Given the description of an element on the screen output the (x, y) to click on. 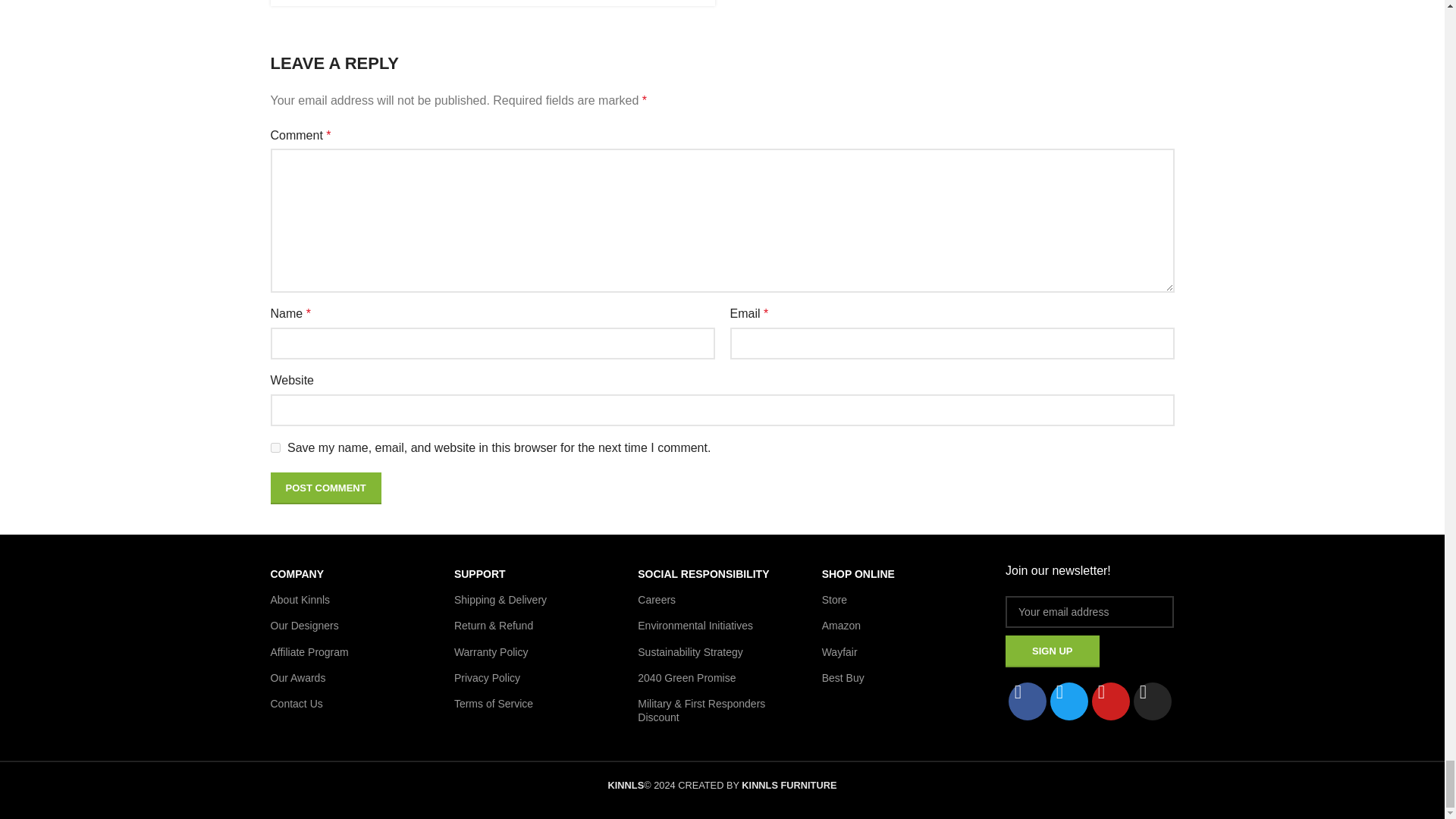
Sign up (1052, 651)
yes (274, 447)
Post Comment (324, 488)
